Given the description of an element on the screen output the (x, y) to click on. 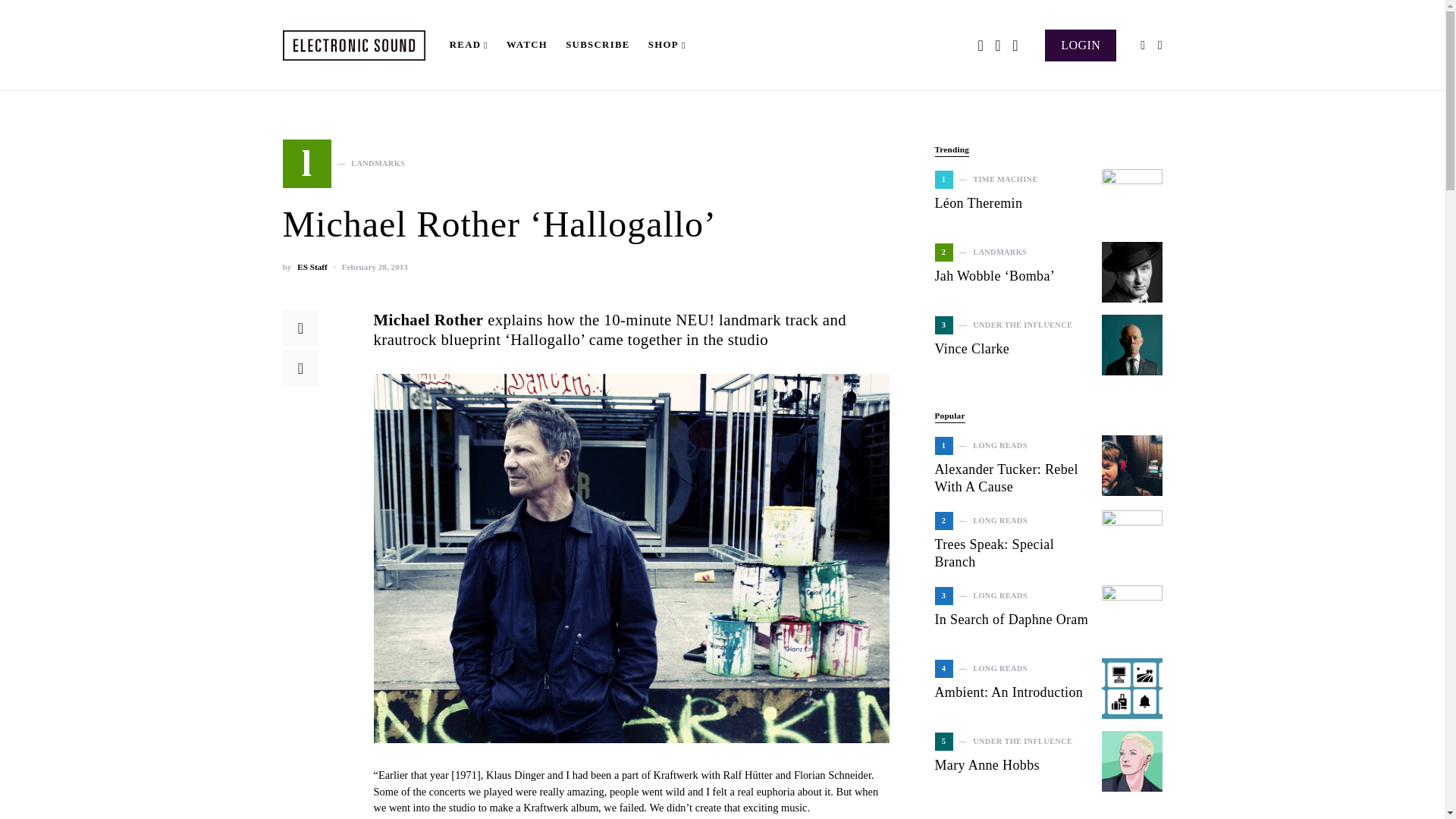
ES Staff (343, 163)
LOGIN (311, 267)
SUBSCRIBE (1080, 44)
View all posts by ES Staff (597, 45)
